Given the description of an element on the screen output the (x, y) to click on. 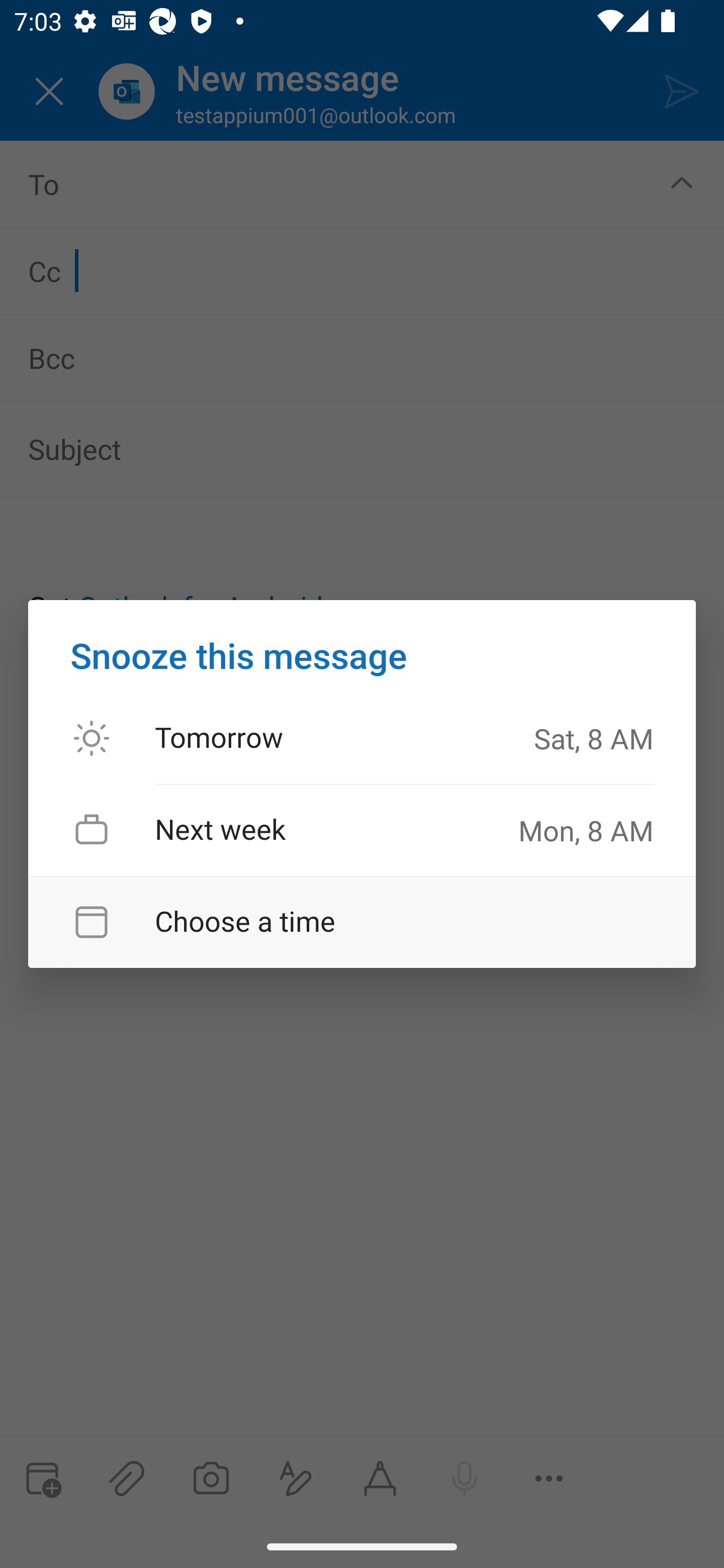
Option 1 Tomorrow Sat, 8 AM (361, 738)
Option 2 Next week Mon, 8 AM (361, 830)
Choose a time (361, 921)
